Given the description of an element on the screen output the (x, y) to click on. 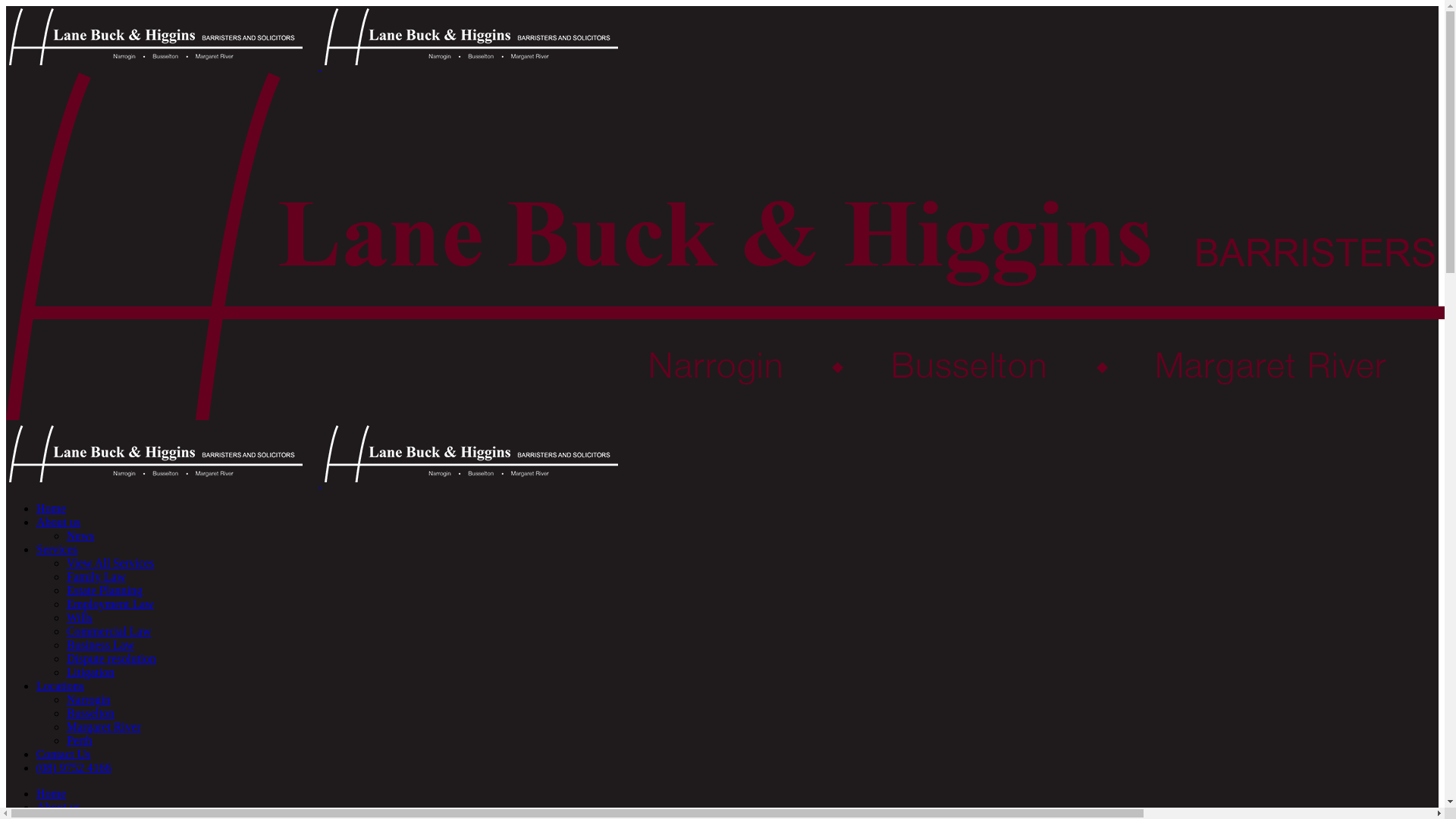
Litigation Element type: text (90, 671)
Employment Law Element type: text (109, 603)
About us Element type: text (58, 806)
View All Services Element type: text (109, 562)
Locations Element type: text (60, 685)
Busselton Element type: text (90, 712)
Margaret River Element type: text (103, 726)
Dispute resolution Element type: text (111, 658)
Home Element type: text (50, 793)
Narrogin Element type: text (88, 699)
Contact Us Element type: text (63, 753)
Family Law Element type: text (95, 576)
About us Element type: text (58, 521)
Business Law Element type: text (100, 644)
Services Element type: text (56, 548)
Wills Element type: text (79, 617)
Estate Planning Element type: text (104, 589)
Perth Element type: text (79, 740)
Home Element type: text (50, 508)
(08) 9752 4166 Element type: text (73, 767)
News Element type: text (80, 535)
Commercial Law Element type: text (108, 630)
